Given the description of an element on the screen output the (x, y) to click on. 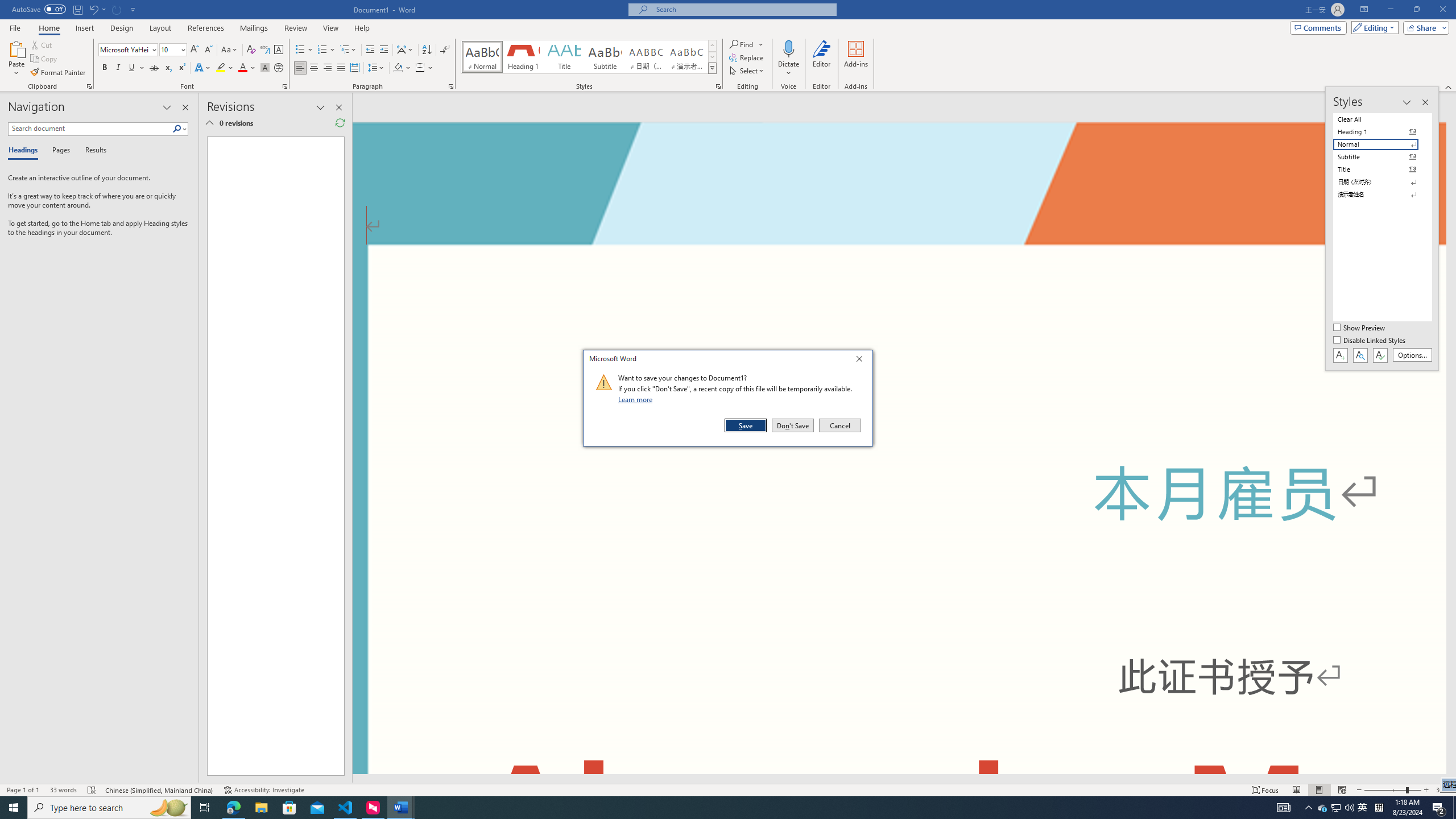
Font Color (246, 67)
Learn more (636, 399)
Bold (104, 67)
Can't Repeat (117, 9)
Collapse the Ribbon (1448, 86)
Subtitle (605, 56)
File Tab (15, 27)
Multilevel List (347, 49)
Align Right (327, 67)
Normal (1382, 144)
Search (179, 128)
System (6, 6)
Copy (45, 58)
